Given the description of an element on the screen output the (x, y) to click on. 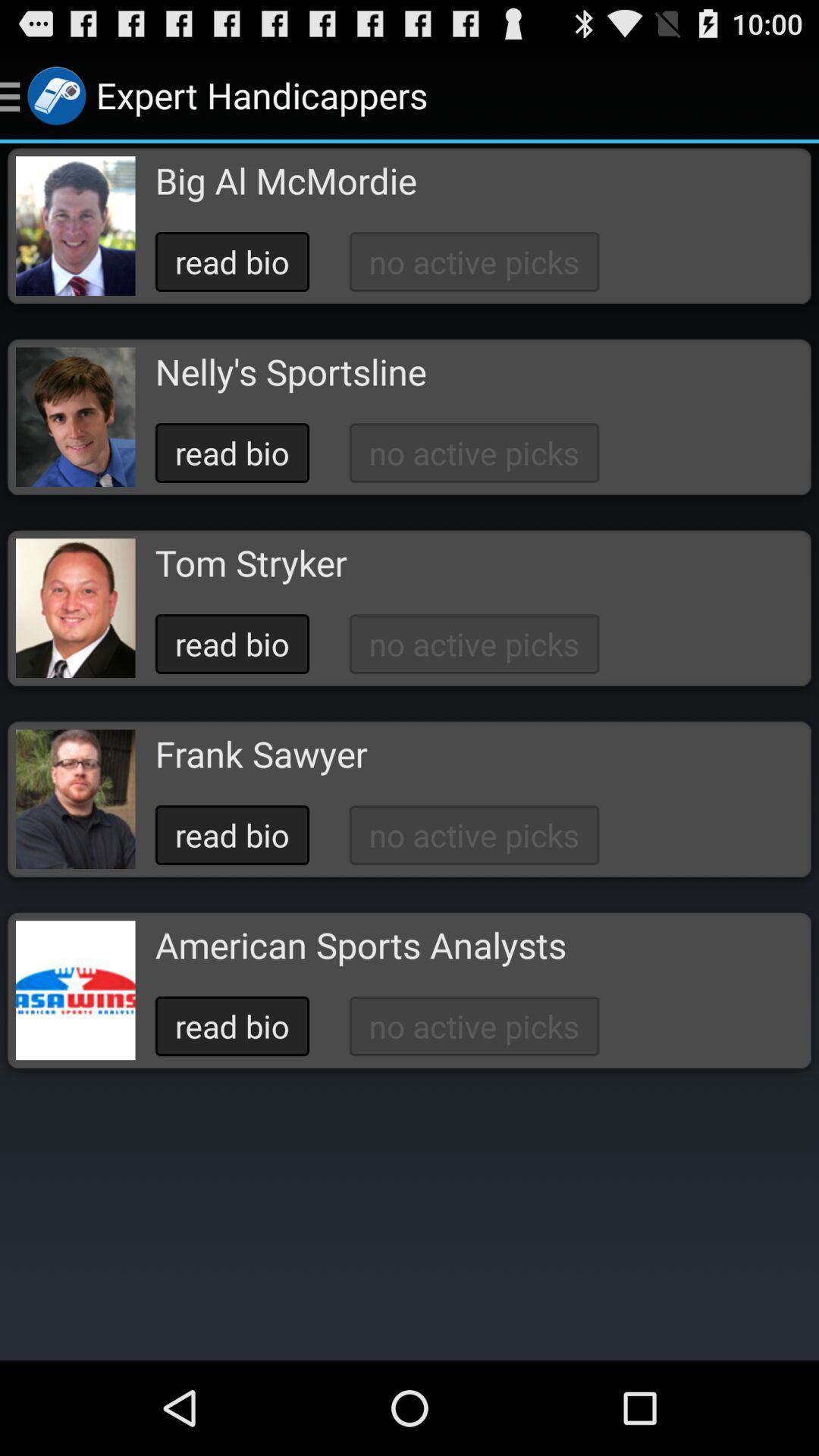
flip to the frank sawyer (261, 753)
